Given the description of an element on the screen output the (x, y) to click on. 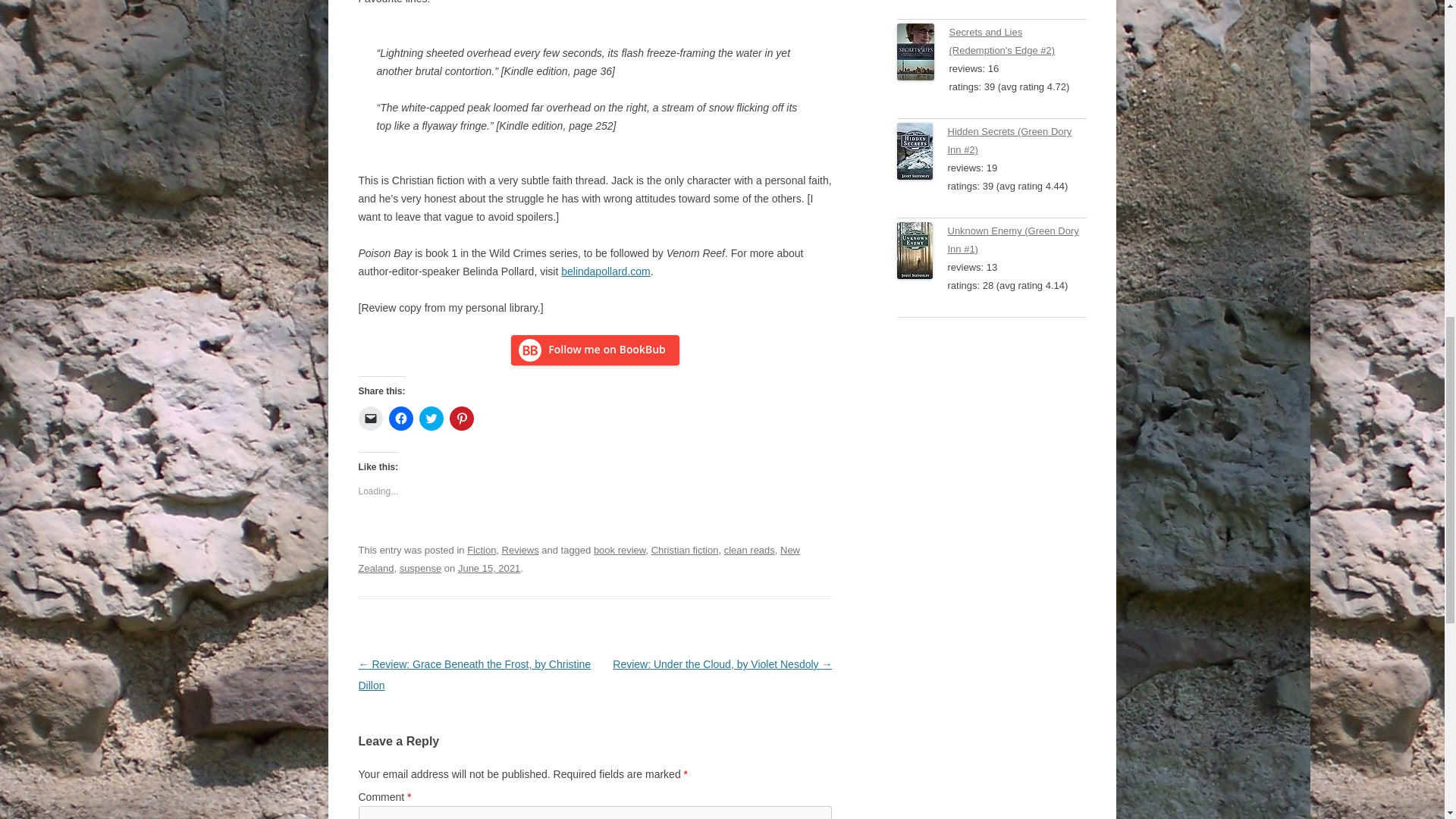
Click to share on Pinterest (460, 418)
Click to email a link to a friend (369, 418)
Click to share on Twitter (430, 418)
6:00 am (488, 568)
Click to share on Facebook (400, 418)
